Given the description of an element on the screen output the (x, y) to click on. 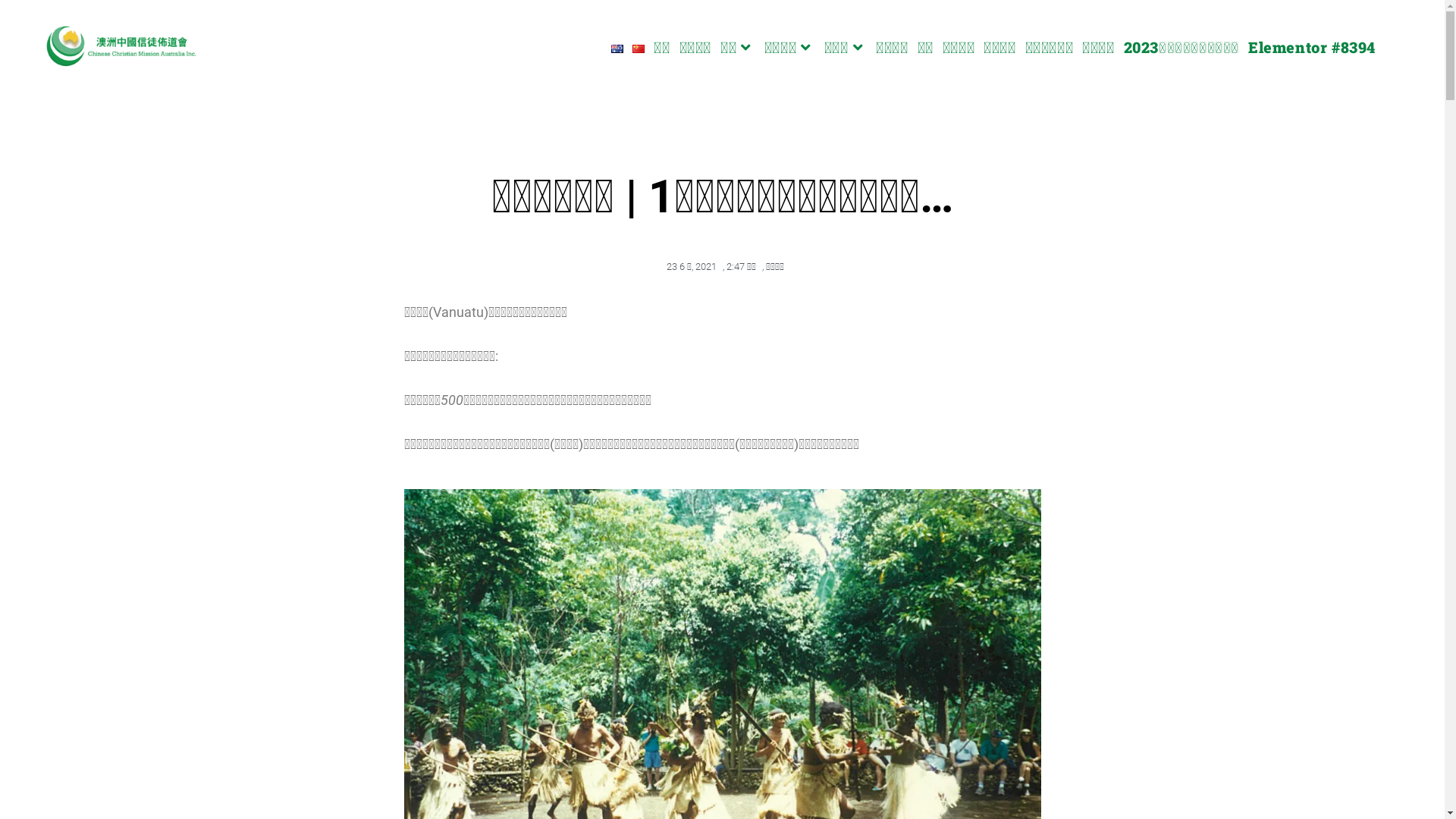
Elementor #8394 Element type: text (1311, 46)
